Given the description of an element on the screen output the (x, y) to click on. 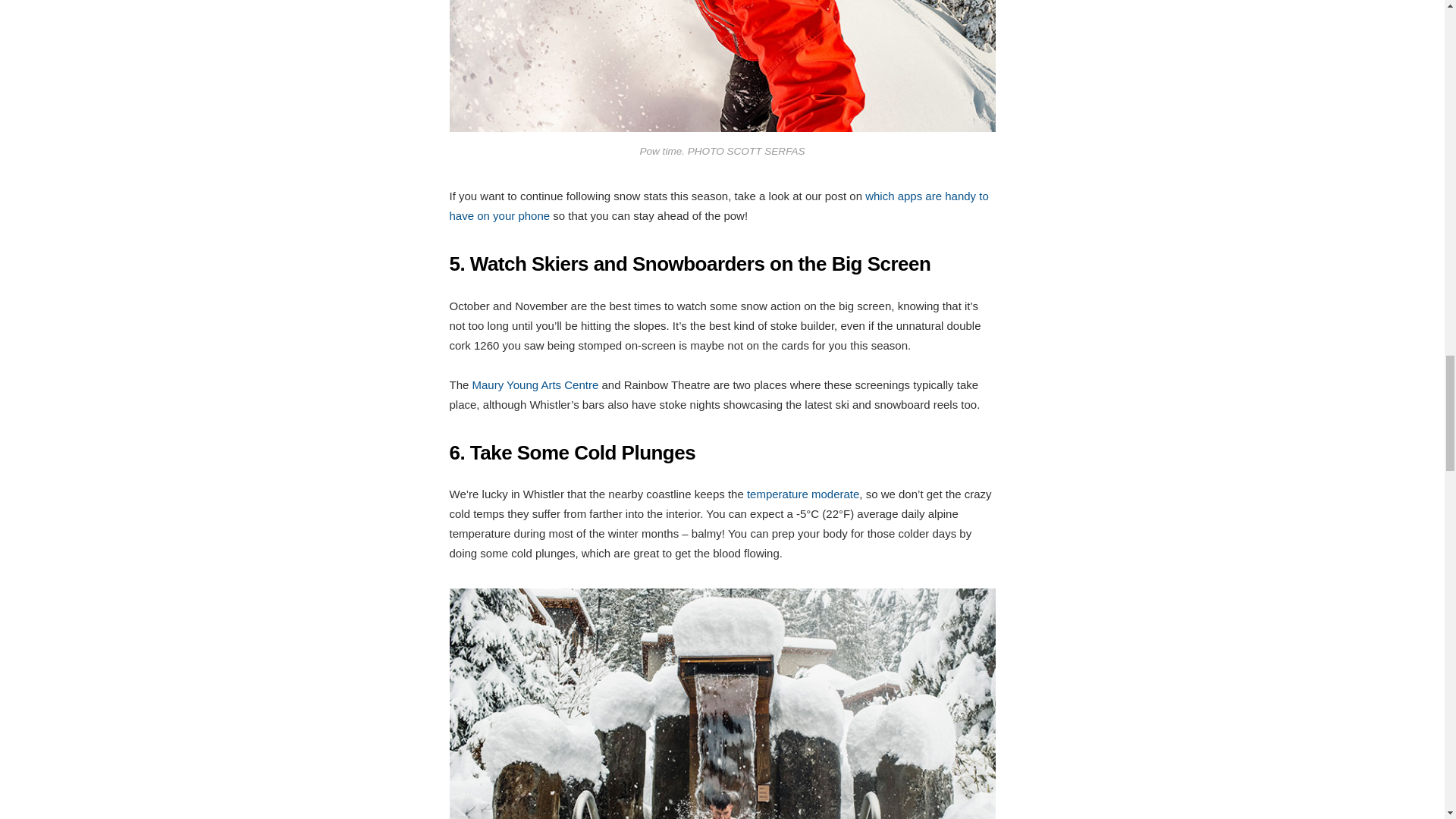
which apps are handy to have on your phone (718, 205)
temperature moderate (802, 493)
Maury Young Arts Centre (534, 384)
